Given the description of an element on the screen output the (x, y) to click on. 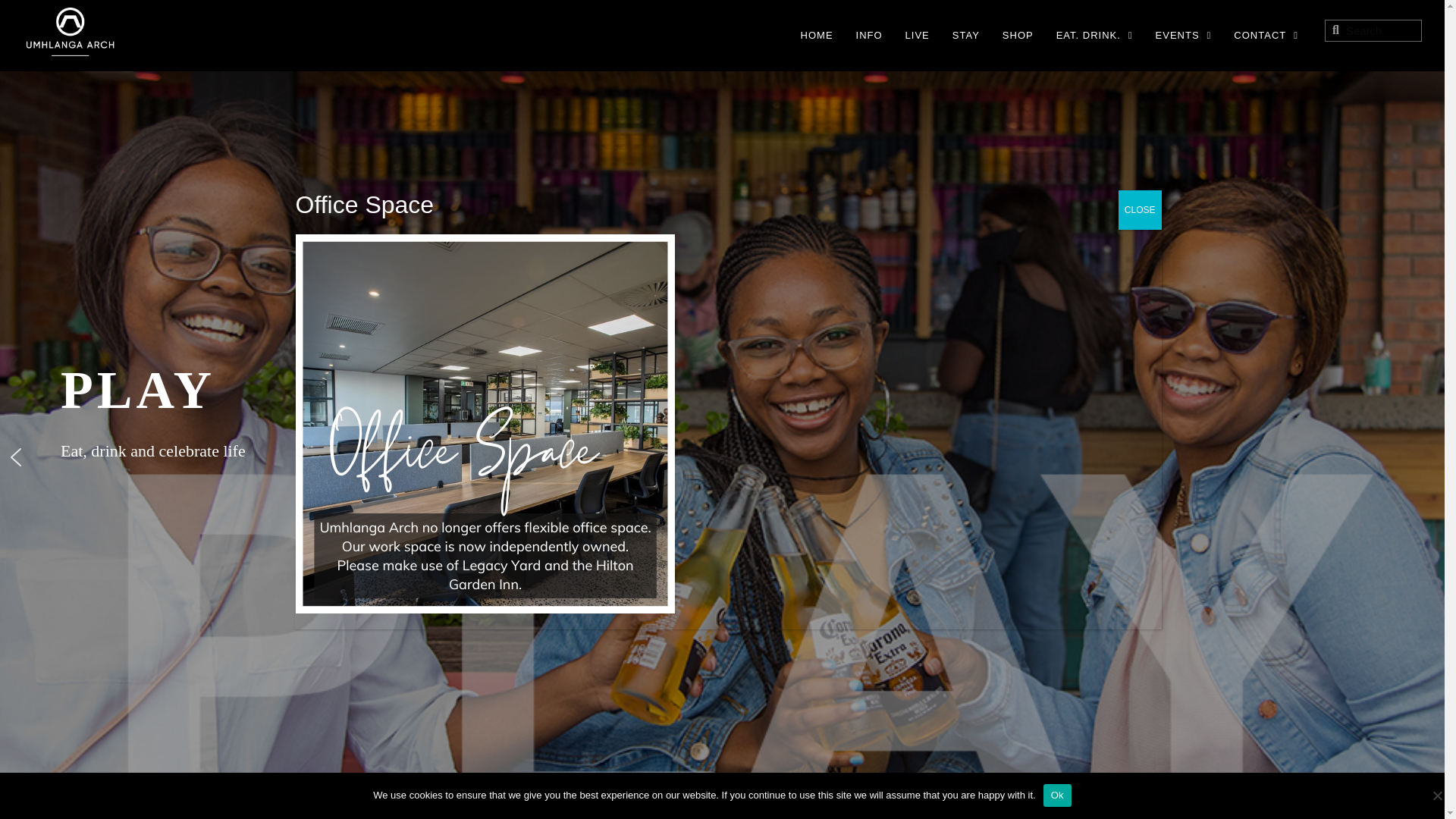
Search (1380, 30)
umhlanga-arch-logo (70, 31)
EAT. DRINK. (1094, 34)
SHOP (1017, 34)
EVENTS (1184, 34)
HOME (817, 34)
LIVE (917, 34)
PLAY (296, 389)
STAY (965, 34)
CONTACT (1265, 34)
INFO (868, 34)
